Given the description of an element on the screen output the (x, y) to click on. 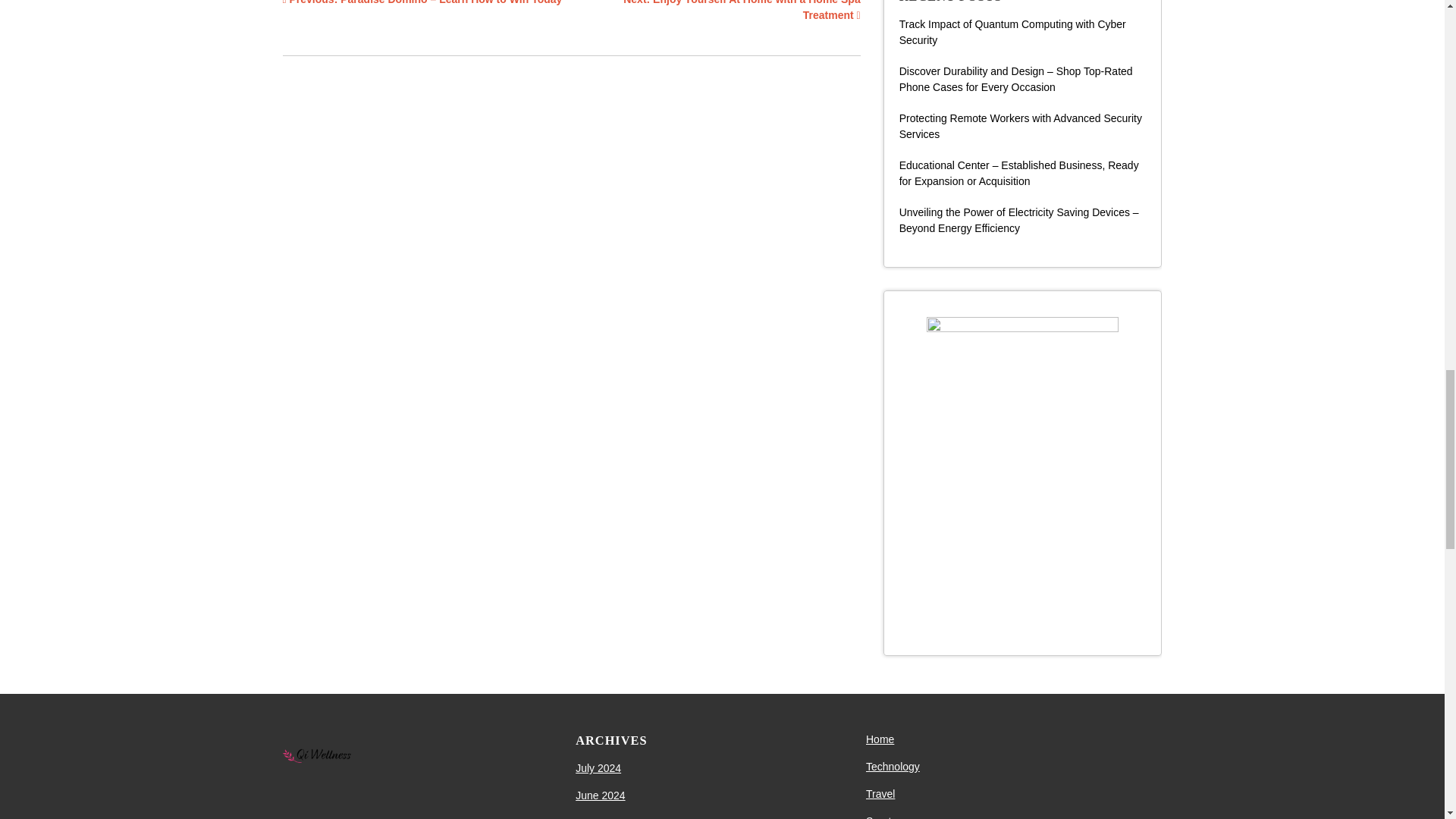
Next: Enjoy Yourself At Home with a Home Spa Treatment (741, 10)
